Given the description of an element on the screen output the (x, y) to click on. 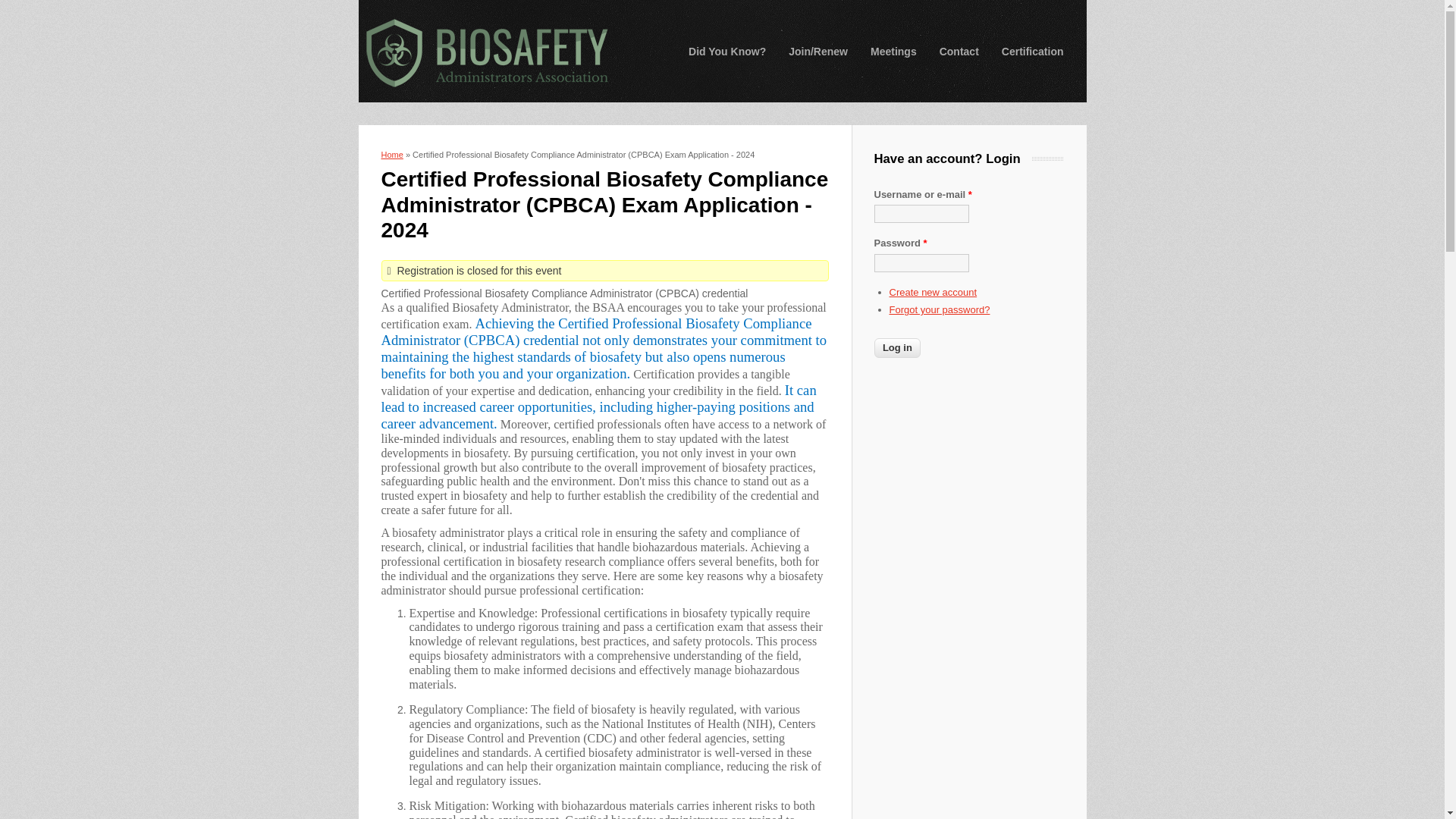
Meetings (893, 51)
Create new account (932, 292)
Home (391, 153)
Did You Know? (727, 51)
Home (486, 52)
Request new password via e-mail. (939, 309)
Log in (896, 347)
Create a new user account. (932, 292)
Forgot your password? (939, 309)
Certification (1032, 51)
